Given the description of an element on the screen output the (x, y) to click on. 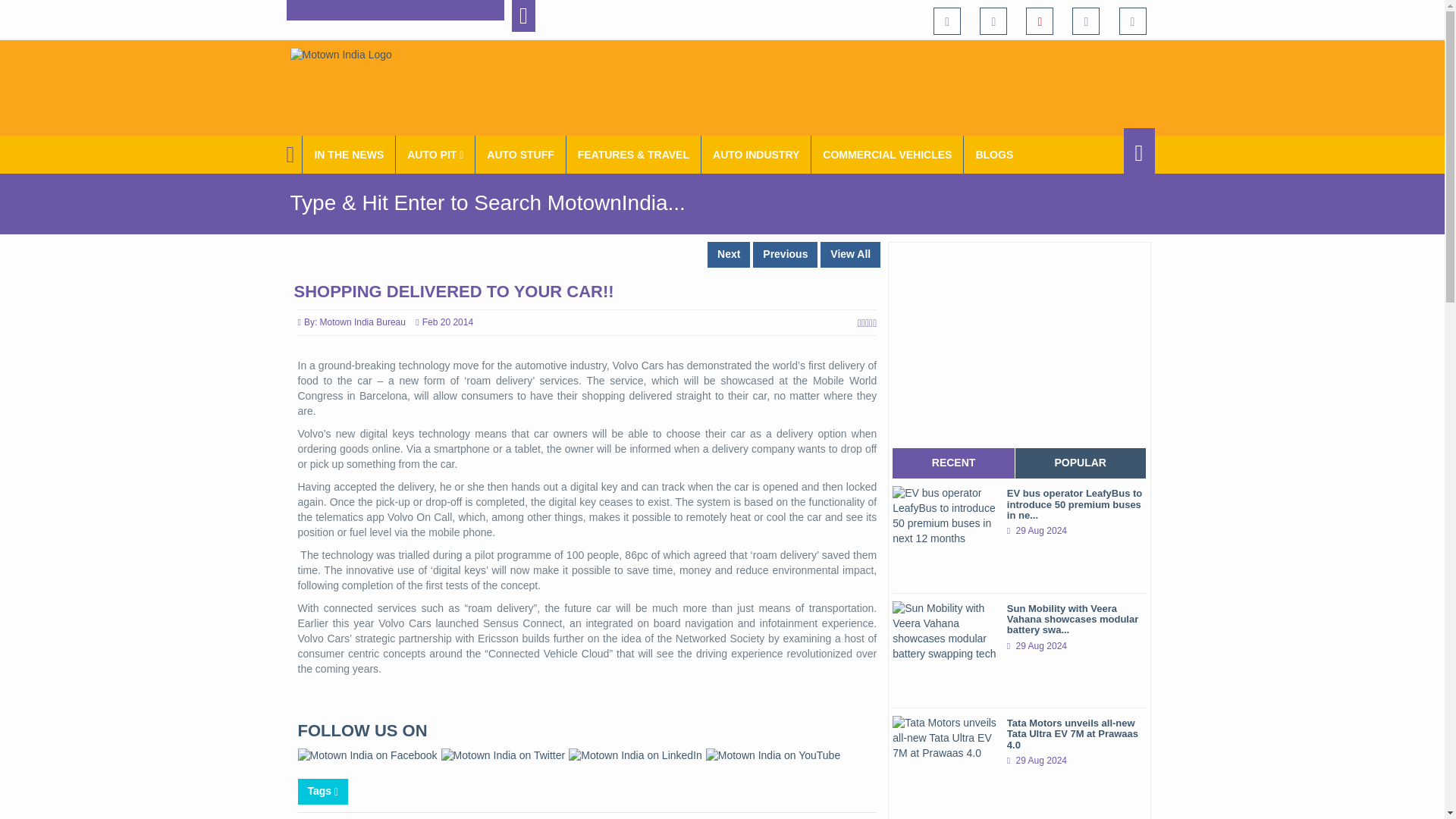
Previous (784, 254)
AUTO STUFF (521, 154)
AUTO INDUSTRY (755, 154)
View All Auto-Pit - Motown India (436, 154)
View All In The News - Motown India (349, 154)
Motown India on Facebook (946, 21)
IN THE NEWS (349, 154)
Motown India on Instagram (1085, 21)
BLOGS (994, 154)
Motown India on YouTube (1039, 21)
